Given the description of an element on the screen output the (x, y) to click on. 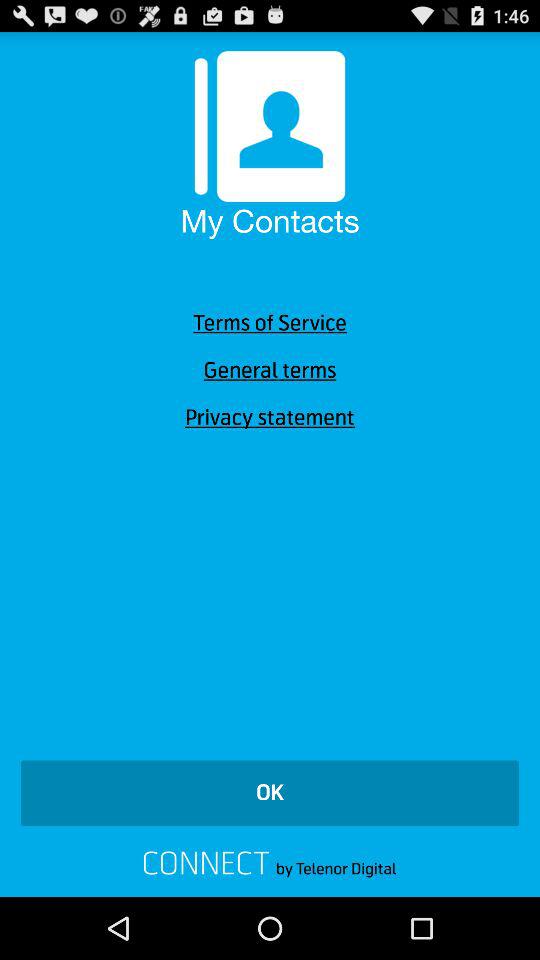
launch the privacy statement (270, 417)
